Given the description of an element on the screen output the (x, y) to click on. 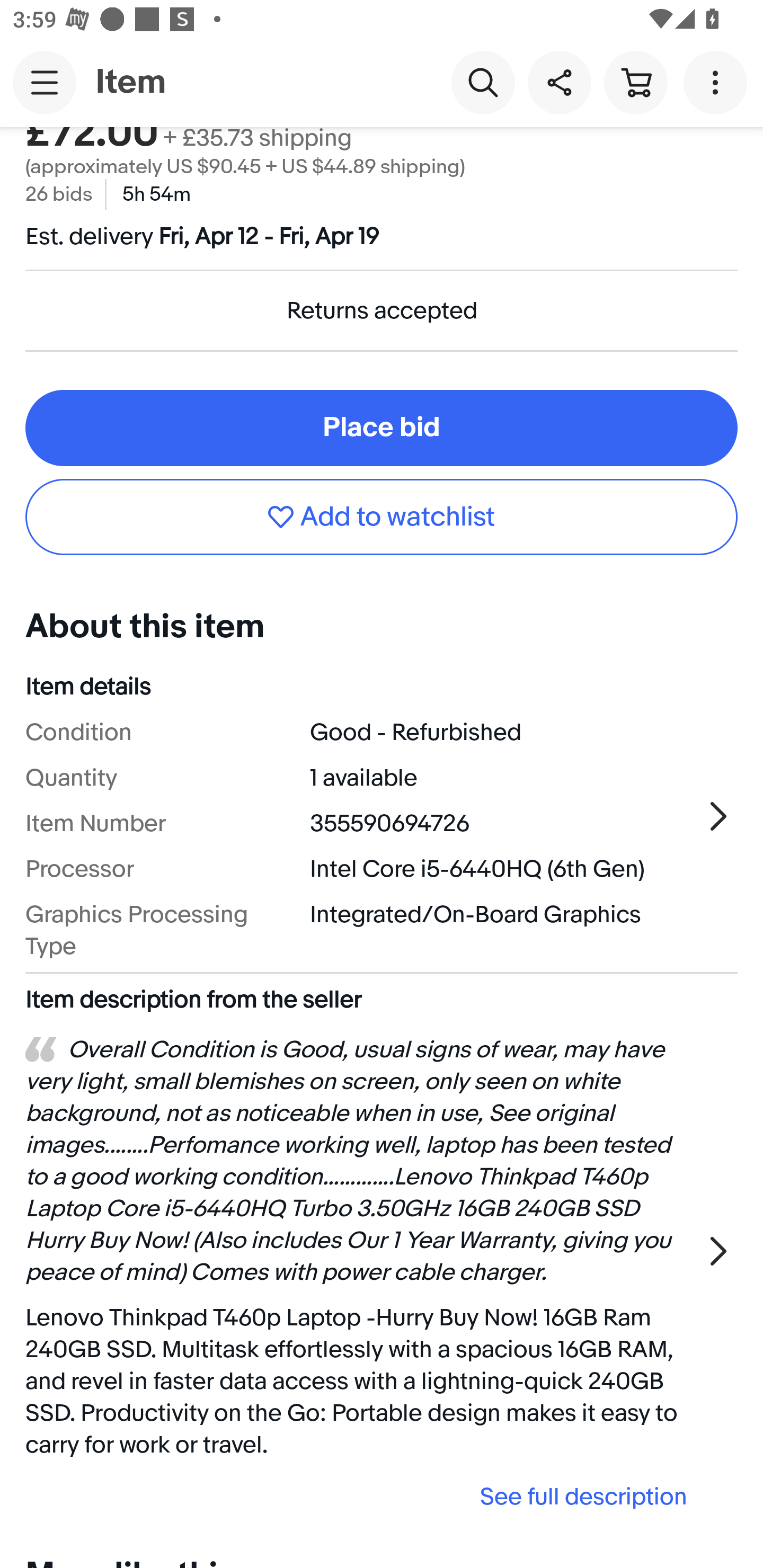
Main navigation, open (44, 82)
Search (482, 81)
Share this item (559, 81)
Cart button shopping cart (635, 81)
More options (718, 81)
Place bid (381, 427)
Add to watchlist (381, 516)
See full description (362, 1496)
